Given the description of an element on the screen output the (x, y) to click on. 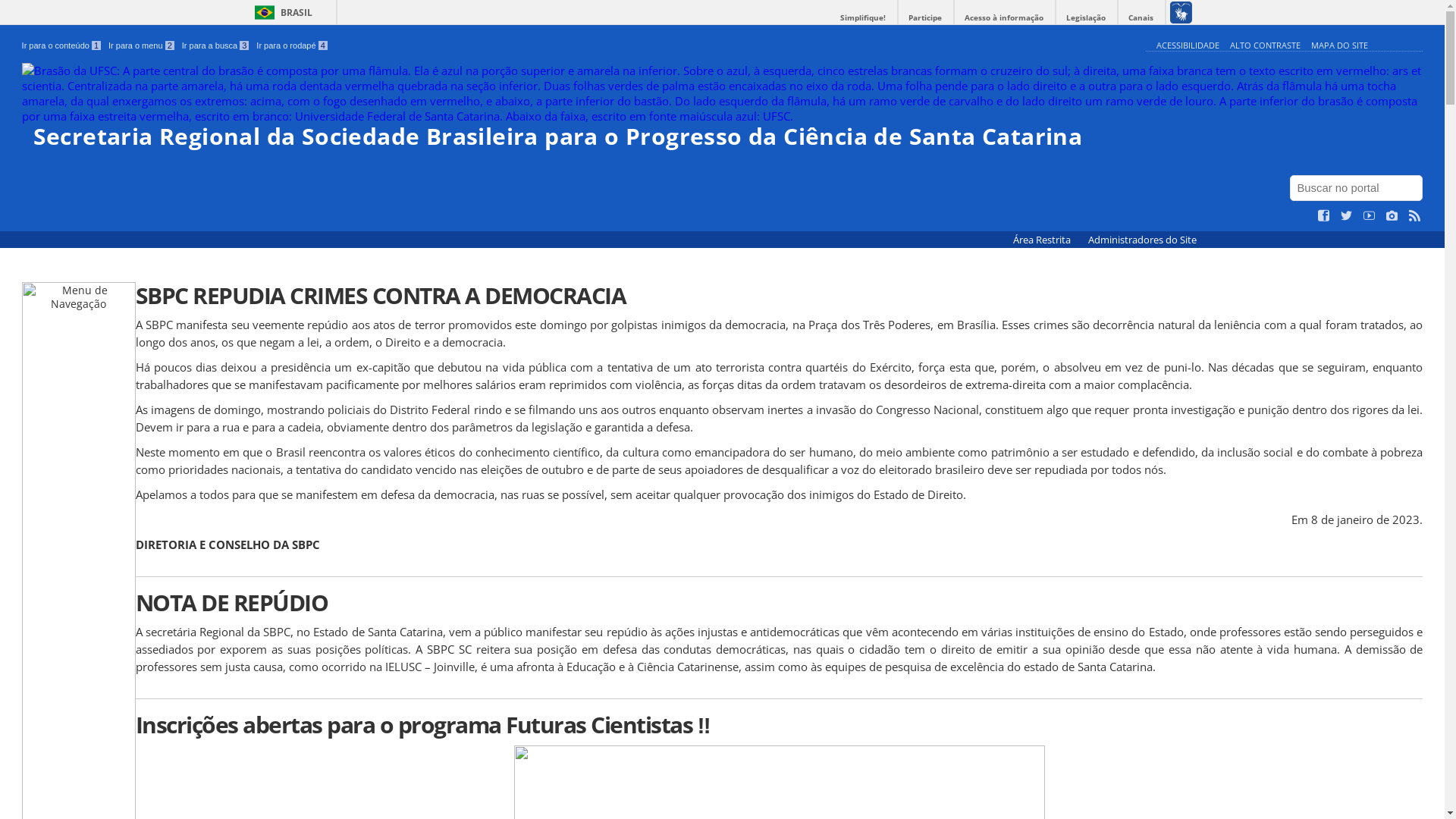
Siga no Twitter Element type: hover (1346, 216)
Participe Element type: text (924, 18)
ACESSIBILIDADE Element type: text (1187, 44)
Veja no Instagram Element type: hover (1392, 216)
ALTO CONTRASTE Element type: text (1265, 44)
Administradores do Site Element type: text (1141, 239)
Canais Element type: text (1140, 18)
BRASIL Element type: text (280, 12)
Ir para o menu 2 Element type: text (141, 45)
Simplifique! Element type: text (862, 18)
MAPA DO SITE Element type: text (1339, 44)
SBPC REPUDIA CRIMES CONTRA A DEMOCRACIA Element type: text (779, 295)
Ir para a busca 3 Element type: text (215, 45)
Curta no Facebook Element type: hover (1323, 216)
